Given the description of an element on the screen output the (x, y) to click on. 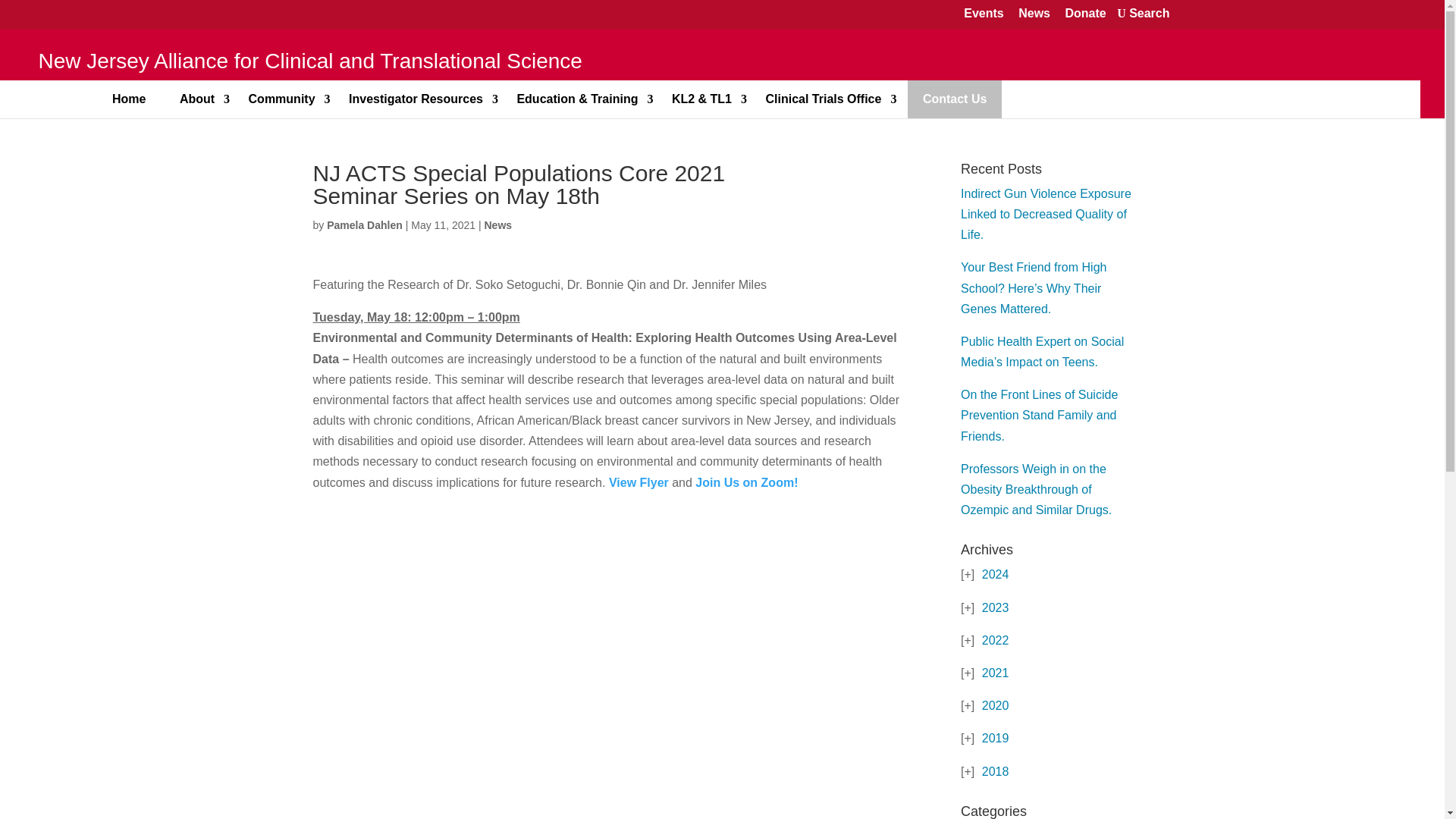
Events (983, 14)
Community (281, 98)
Posts by Pamela Dahlen (364, 224)
Search (1142, 13)
Investigator Resources (415, 98)
About (197, 98)
Donate (1084, 14)
New Jersey Alliance for Clinical and Translational Science (308, 63)
Home (128, 98)
News (1033, 14)
